Given the description of an element on the screen output the (x, y) to click on. 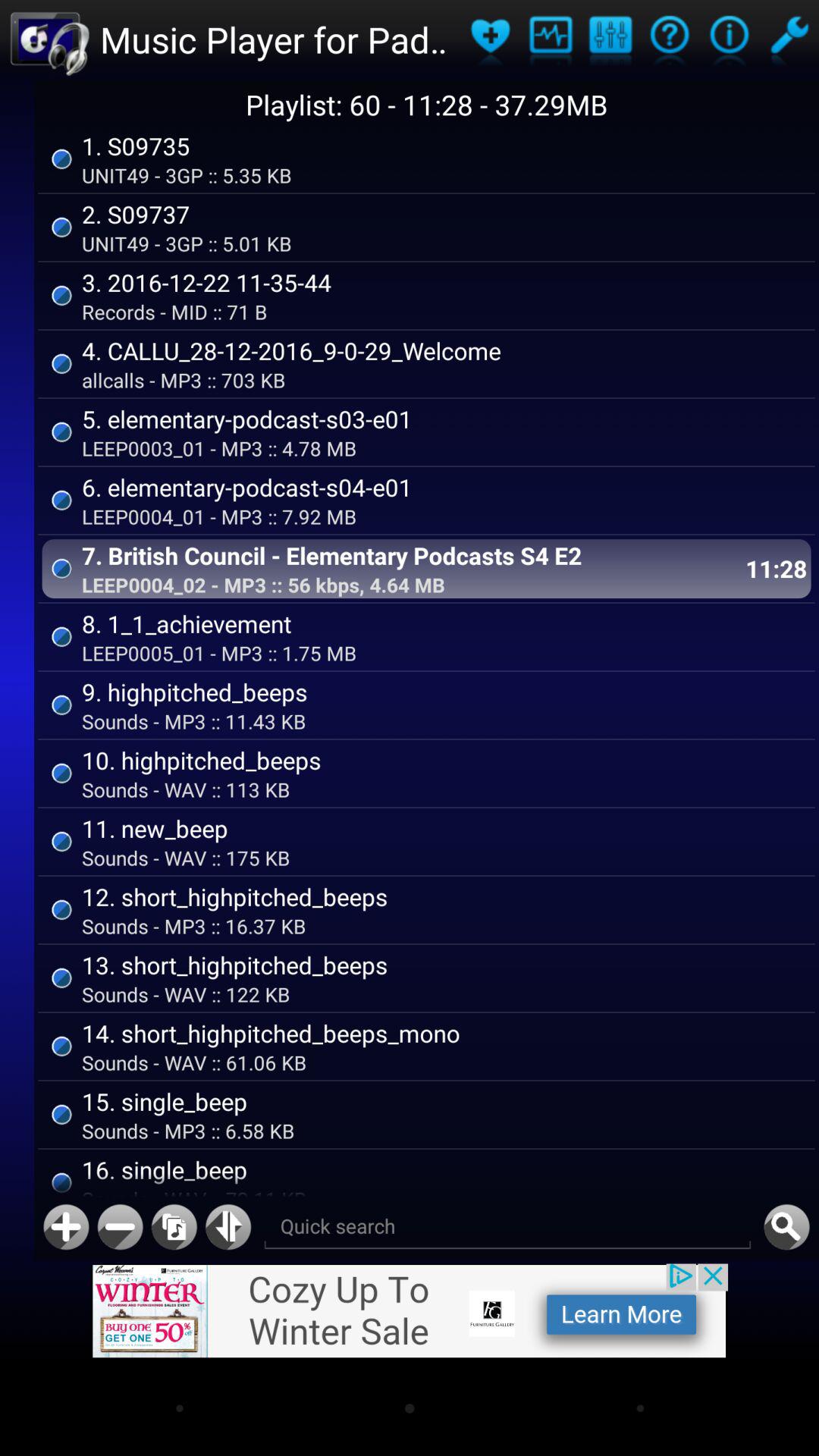
banner advertisement (409, 1310)
